Given the description of an element on the screen output the (x, y) to click on. 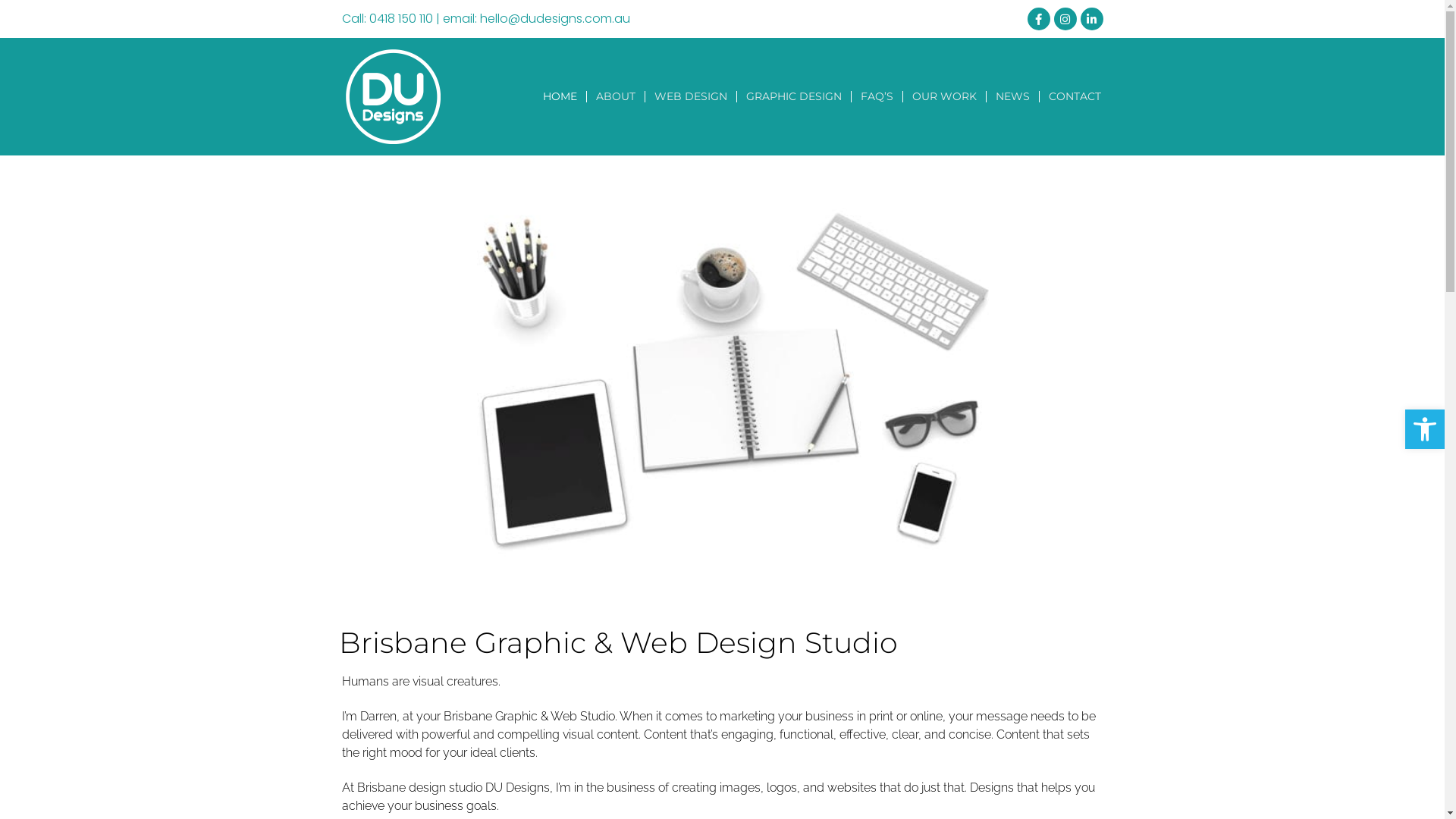
GRAPHIC DESIGN Element type: text (793, 96)
NEWS Element type: text (1012, 96)
My Desktop Element type: hover (721, 378)
OUR WORK Element type: text (944, 96)
WEB DESIGN Element type: text (690, 96)
Open toolbar
Accessibility Tools Element type: text (1424, 428)
CONTACT Element type: text (1074, 96)
ABOUT Element type: text (615, 96)
HOME Element type: text (559, 96)
